Given the description of an element on the screen output the (x, y) to click on. 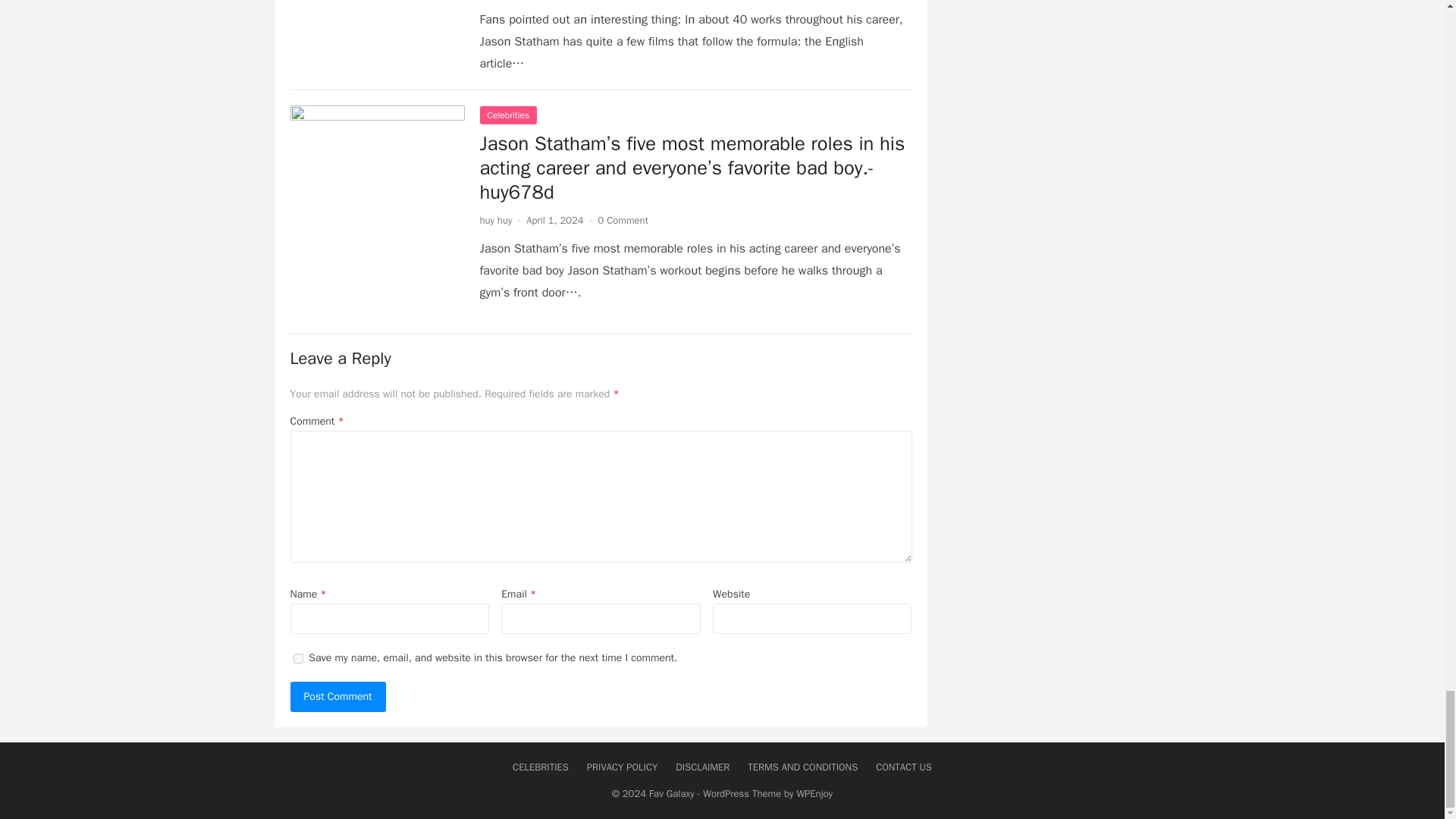
yes (297, 658)
Post Comment (337, 696)
Posts by huy huy (495, 219)
